Given the description of an element on the screen output the (x, y) to click on. 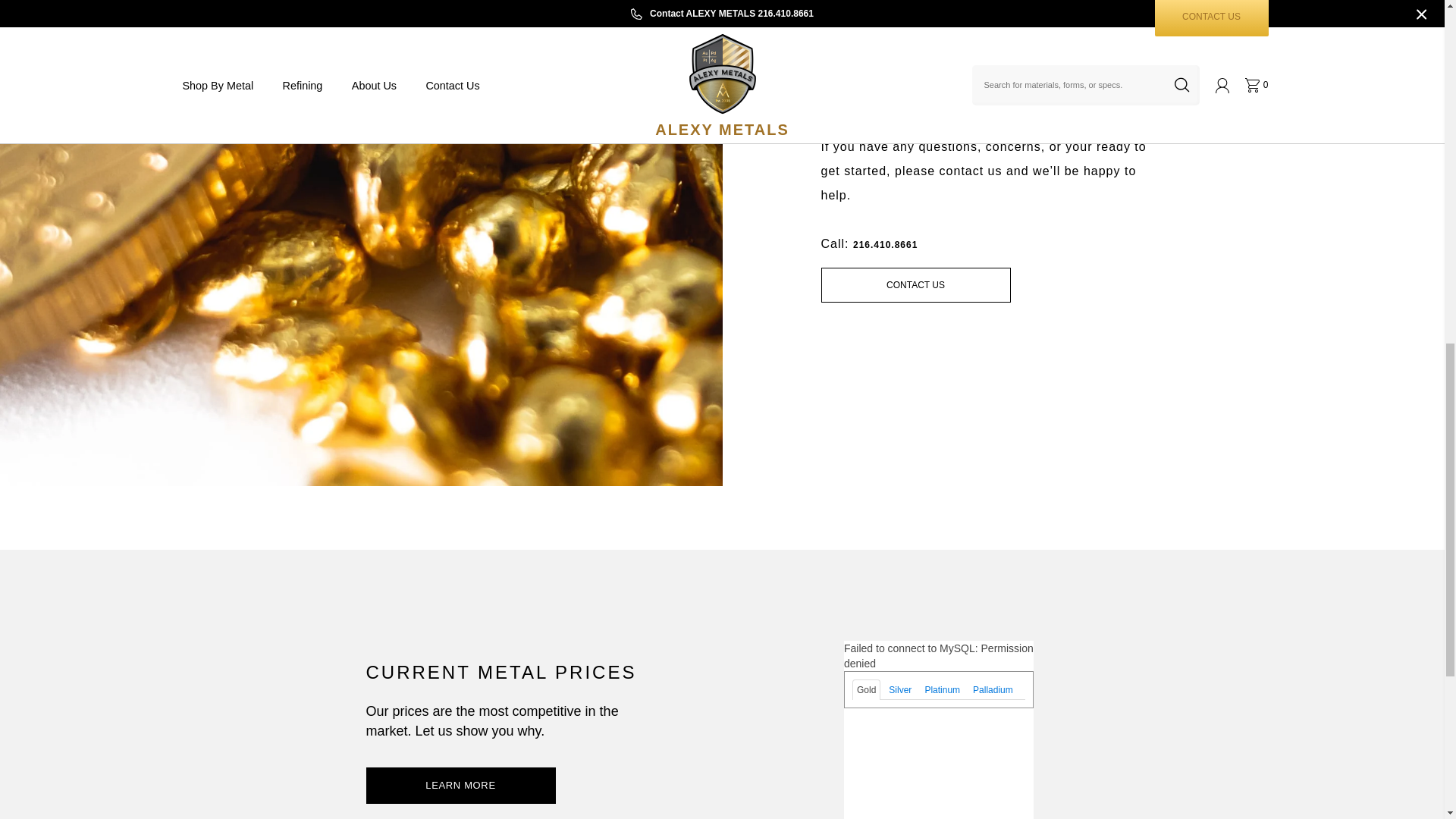
LEARN MORE (459, 785)
216.410.8661 (885, 244)
CONTACT US (915, 284)
tel:216.410.8661 (885, 244)
